Given the description of an element on the screen output the (x, y) to click on. 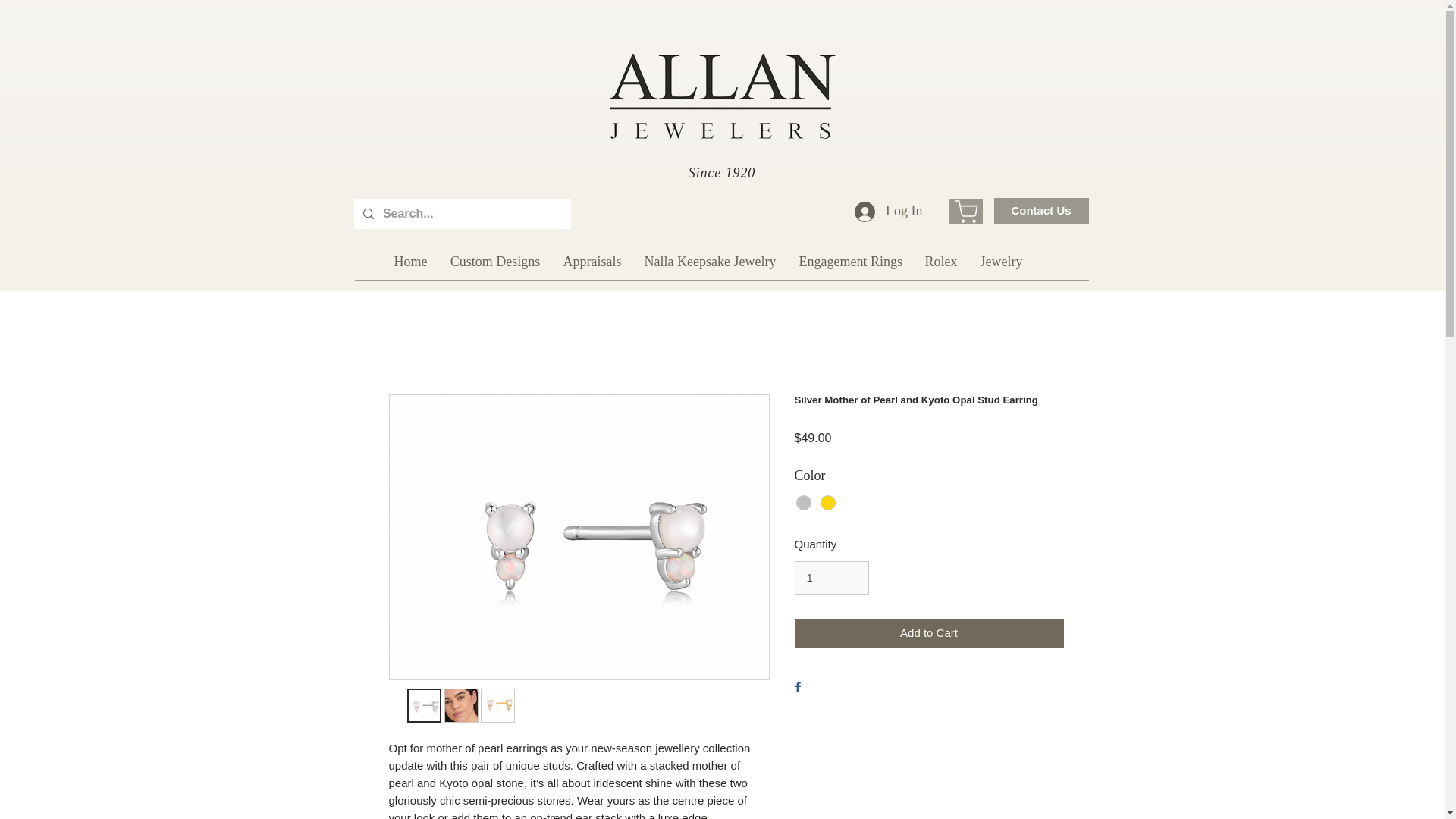
Appraisals (592, 261)
Log In (888, 211)
Nalla Keepsake Jewelry (709, 261)
Rolex (940, 261)
Jewelry (1001, 261)
Custom Designs (494, 261)
Engagement Rings (849, 261)
Contact Us (1039, 211)
Home (409, 261)
1 (831, 577)
